Given the description of an element on the screen output the (x, y) to click on. 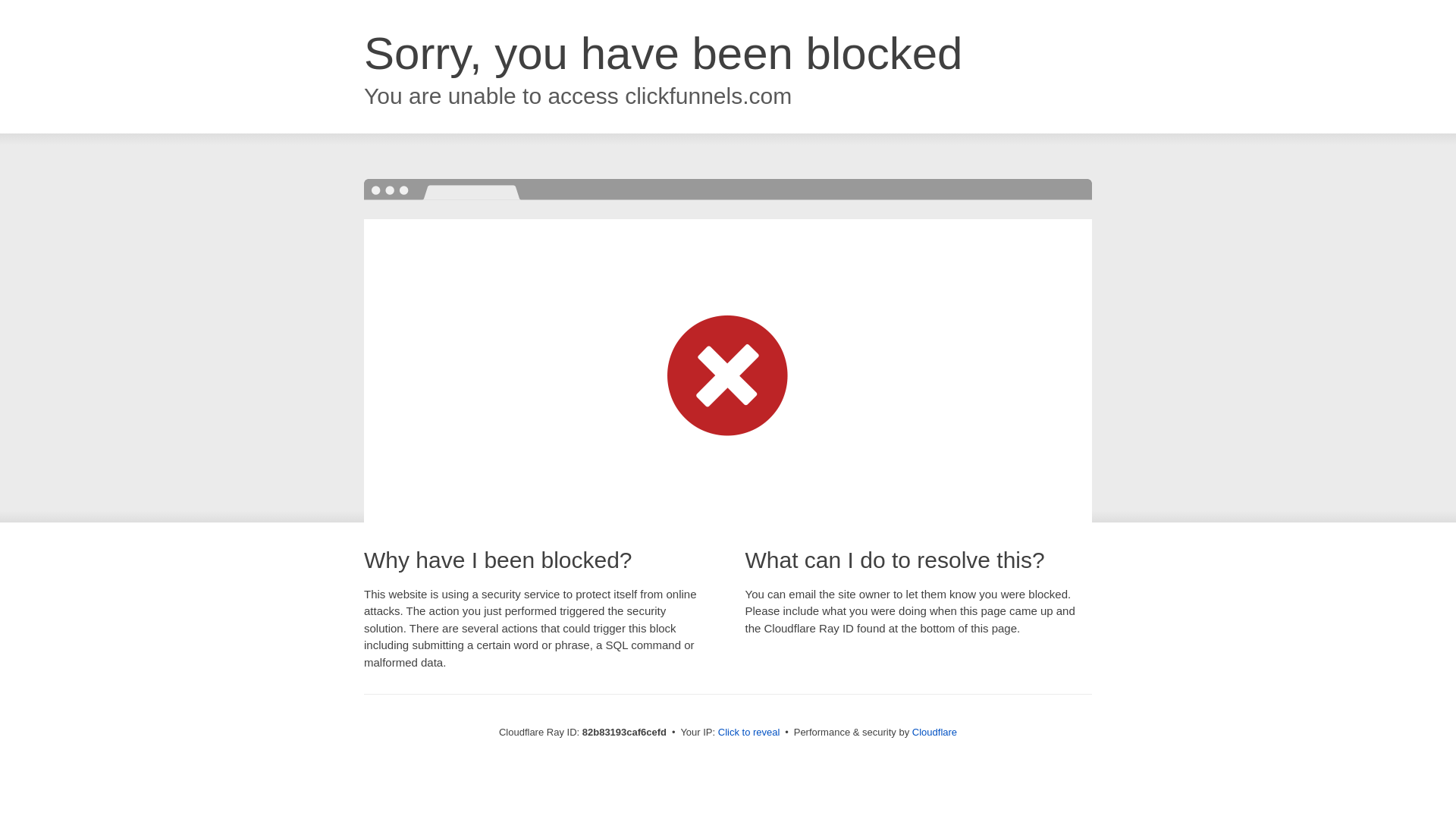
Cloudflare Element type: text (934, 731)
Click to reveal Element type: text (749, 732)
